Given the description of an element on the screen output the (x, y) to click on. 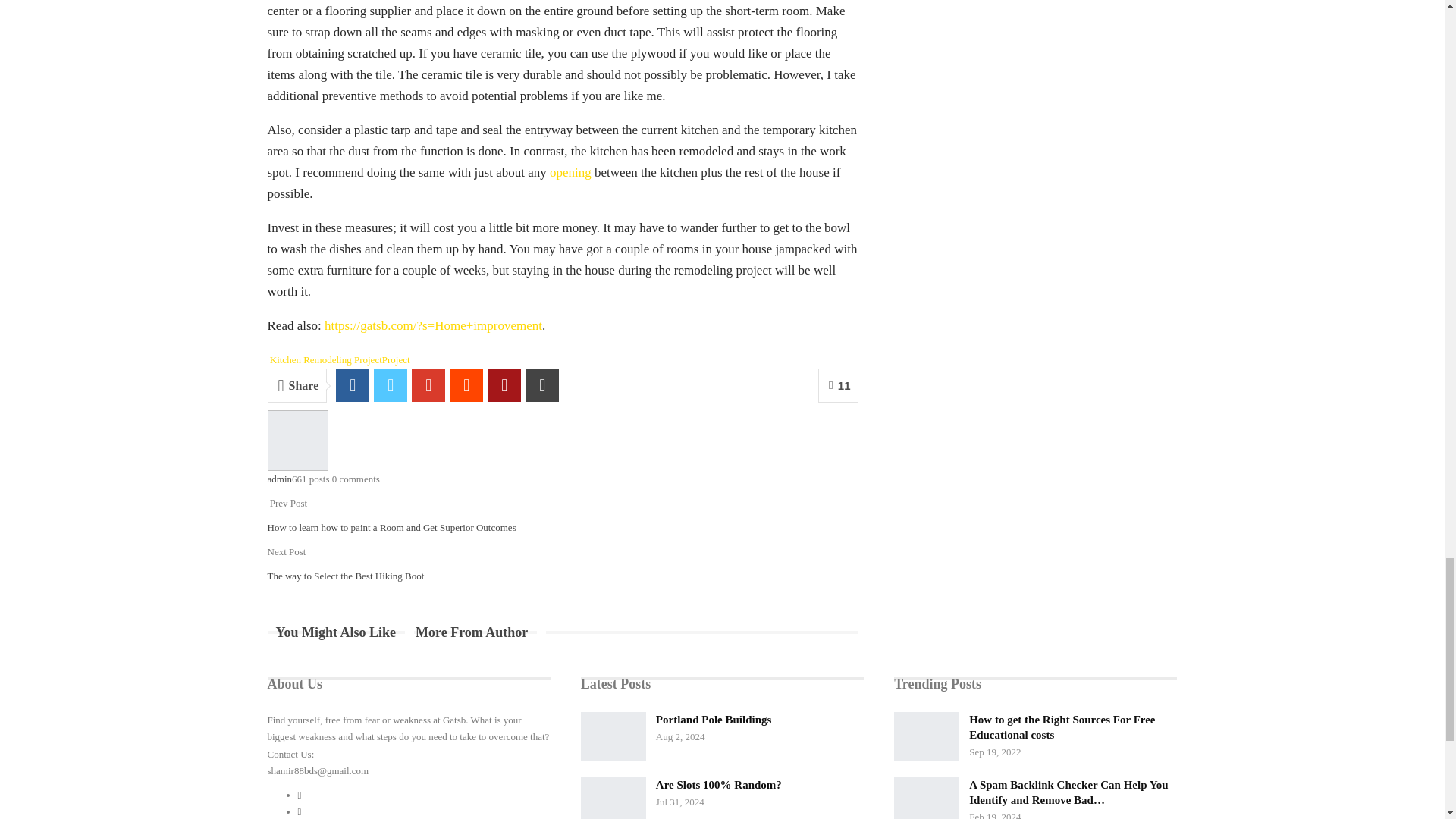
Browse Author Articles (296, 439)
